Given the description of an element on the screen output the (x, y) to click on. 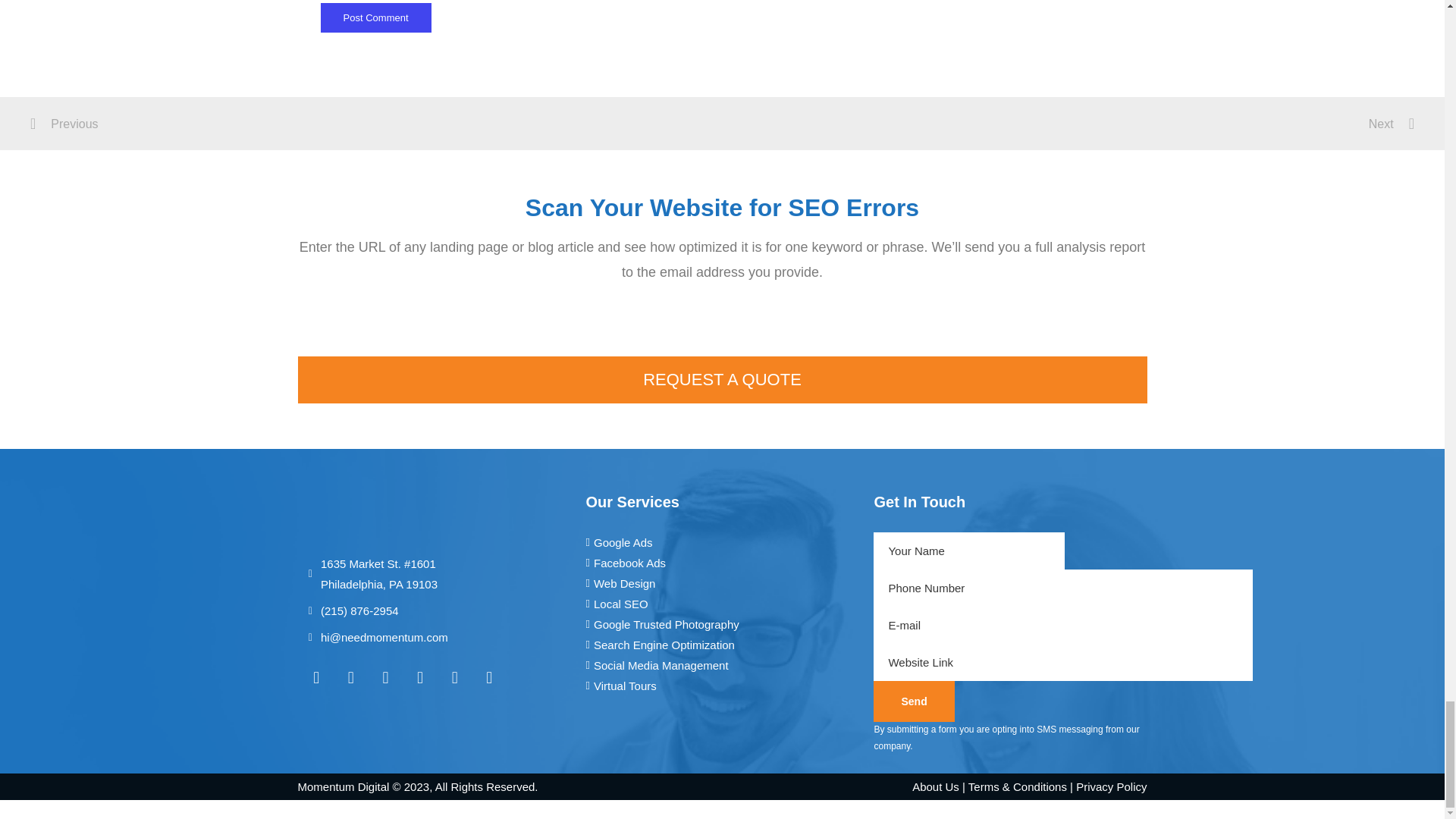
Post Comment (375, 17)
Send (913, 700)
